Given the description of an element on the screen output the (x, y) to click on. 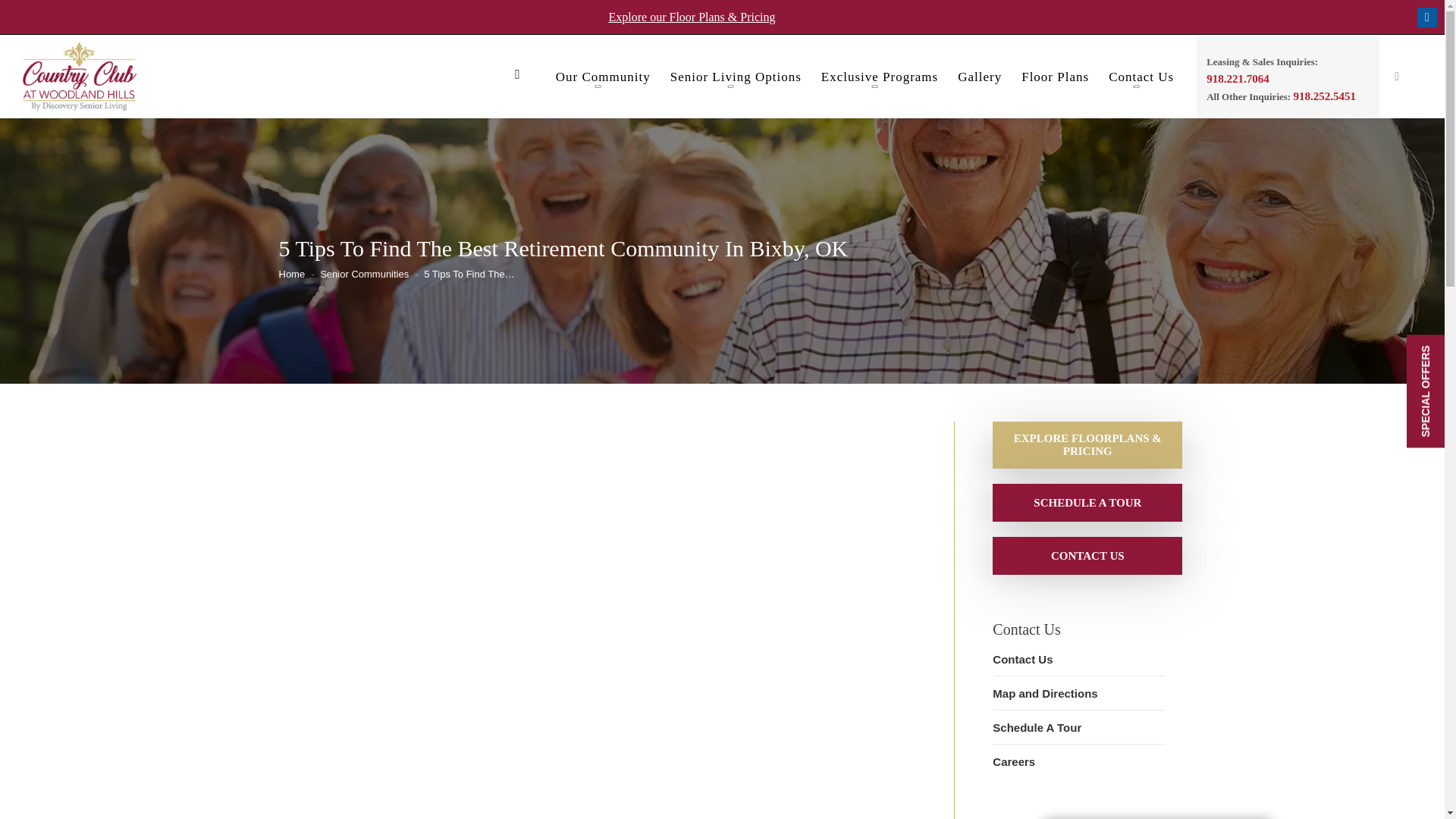
Senior Living Options (735, 79)
Schedule A Tour (1087, 502)
Our Community (603, 79)
Facebook page opens in new window (1426, 17)
Facebook page opens in new window (1426, 17)
Contact Us (1087, 554)
Floor Plans (1055, 79)
Exclusive Programs (879, 79)
